Given the description of an element on the screen output the (x, y) to click on. 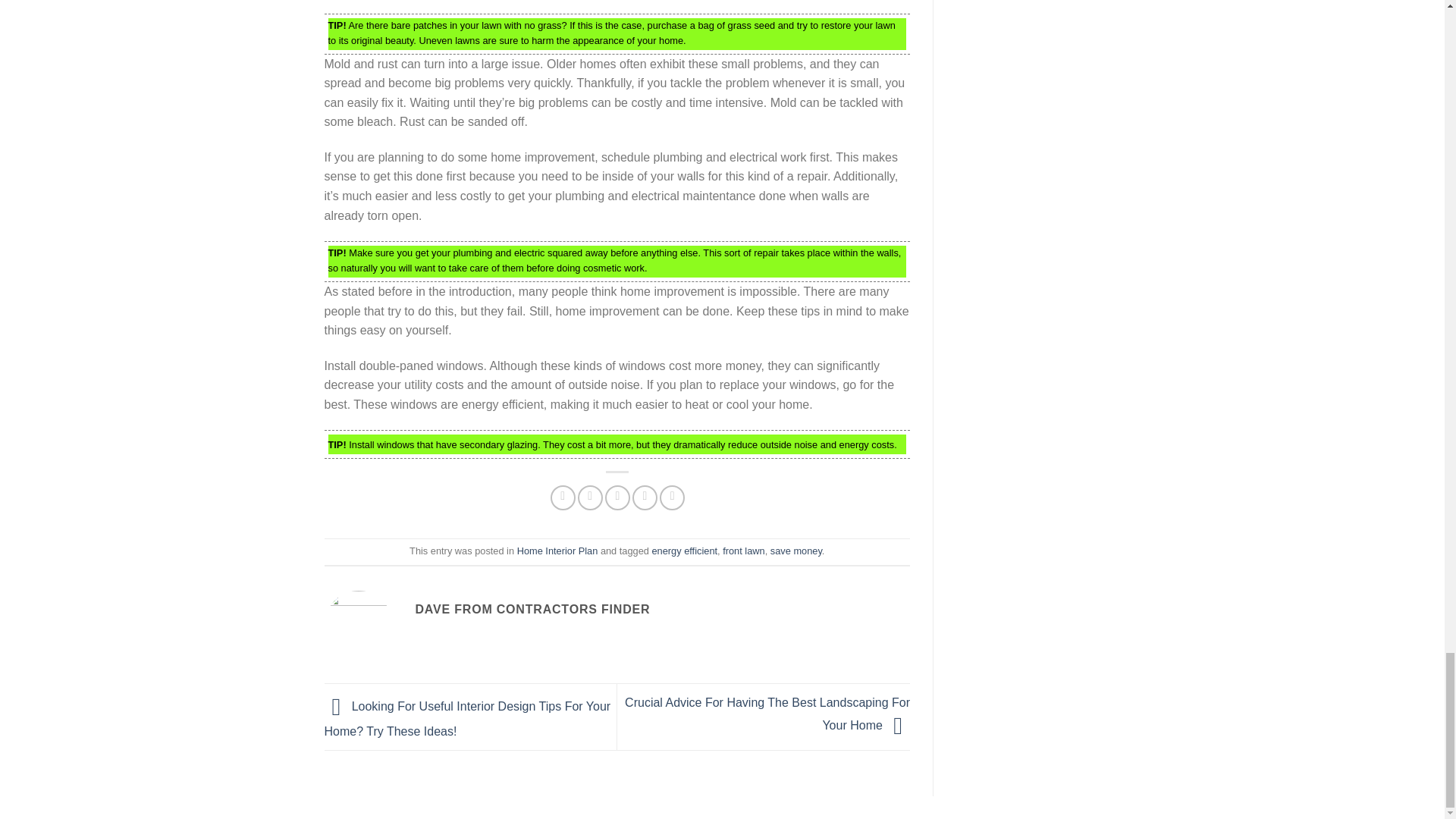
Share on LinkedIn (671, 497)
Crucial Advice For Having The Best Landscaping For Your Home (767, 714)
Home Interior Plan (557, 550)
energy efficient (684, 550)
Share on Facebook (562, 497)
Share on Twitter (590, 497)
Pin on Pinterest (644, 497)
Email to a Friend (617, 497)
front lawn (743, 550)
save money (796, 550)
